Given the description of an element on the screen output the (x, y) to click on. 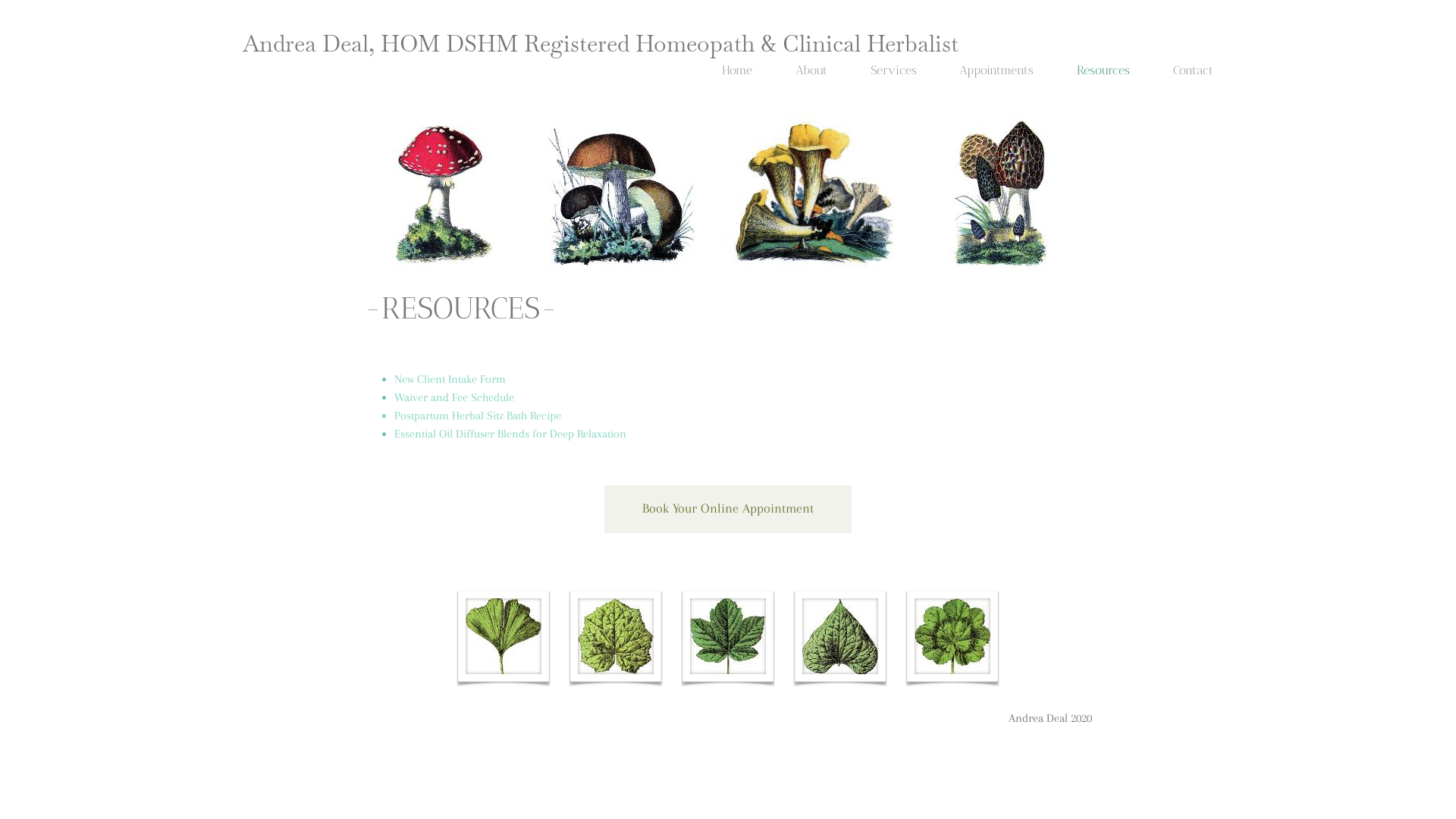
Home Element type: text (736, 69)
Appointments Element type: text (996, 69)
Contact Element type: text (1193, 69)
Book Your Online Appointment Element type: text (727, 508)
Services Element type: text (893, 69)
Essential Oil Diffuser Blends for Deep Relaxation Element type: text (510, 433)
Waiver and Fee Schedule Element type: text (454, 397)
Resources Element type: text (1102, 69)
Postpartum Herbal Sitz Bath Recipe Element type: text (477, 415)
New Client Intake Form Element type: text (449, 378)
About Element type: text (811, 69)
